Given the description of an element on the screen output the (x, y) to click on. 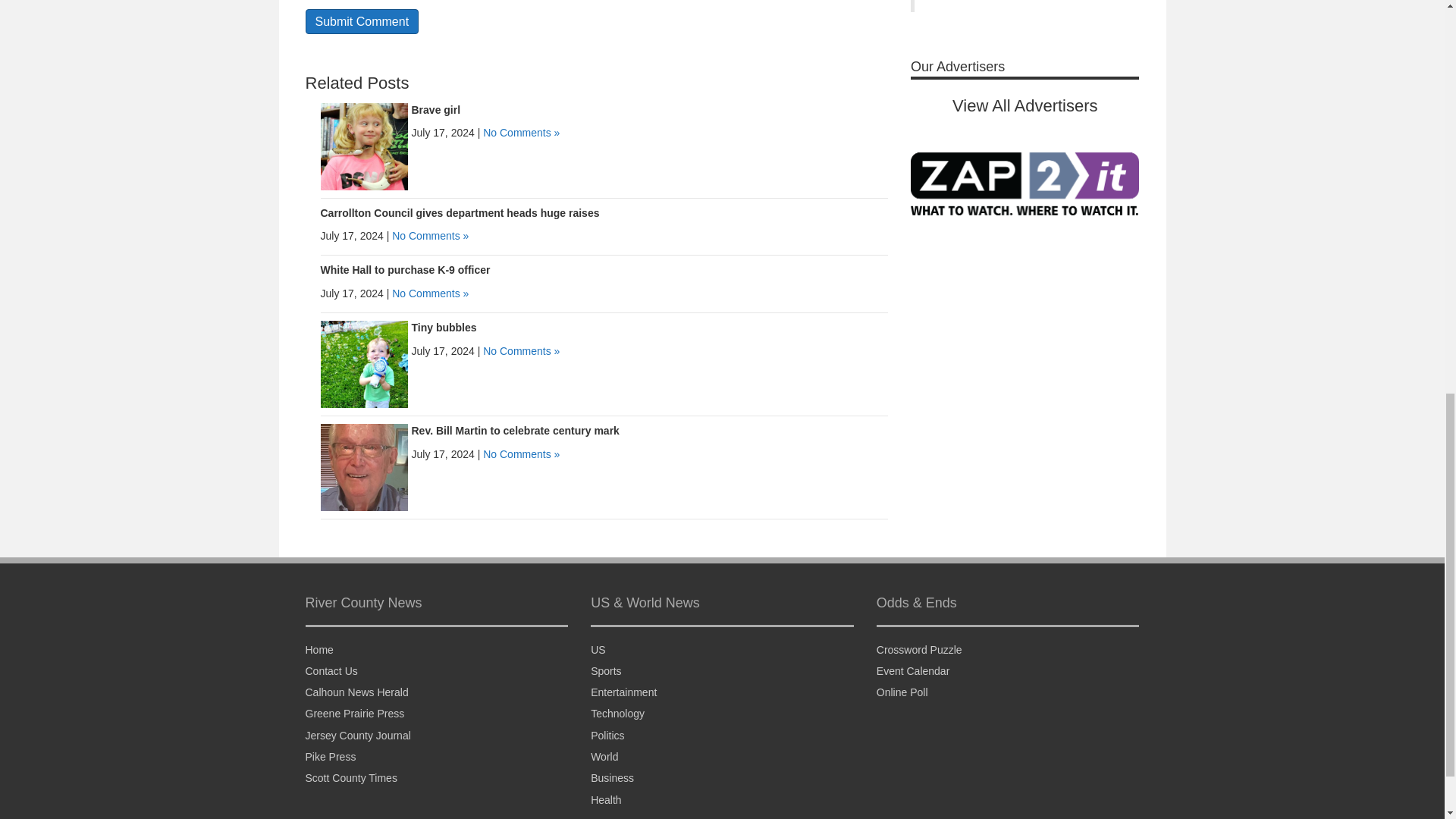
Rev. Bill Martin to celebrate century mark (514, 430)
Submit Comment (361, 21)
Brave girl (435, 110)
Brave girl (363, 145)
Tiny bubbles (443, 327)
White Hall to purchase K-9 officer (404, 269)
Tiny bubbles (363, 363)
Rev. Bill Martin to celebrate century mark (363, 467)
Carrollton Council gives department heads huge raises (459, 213)
